Given the description of an element on the screen output the (x, y) to click on. 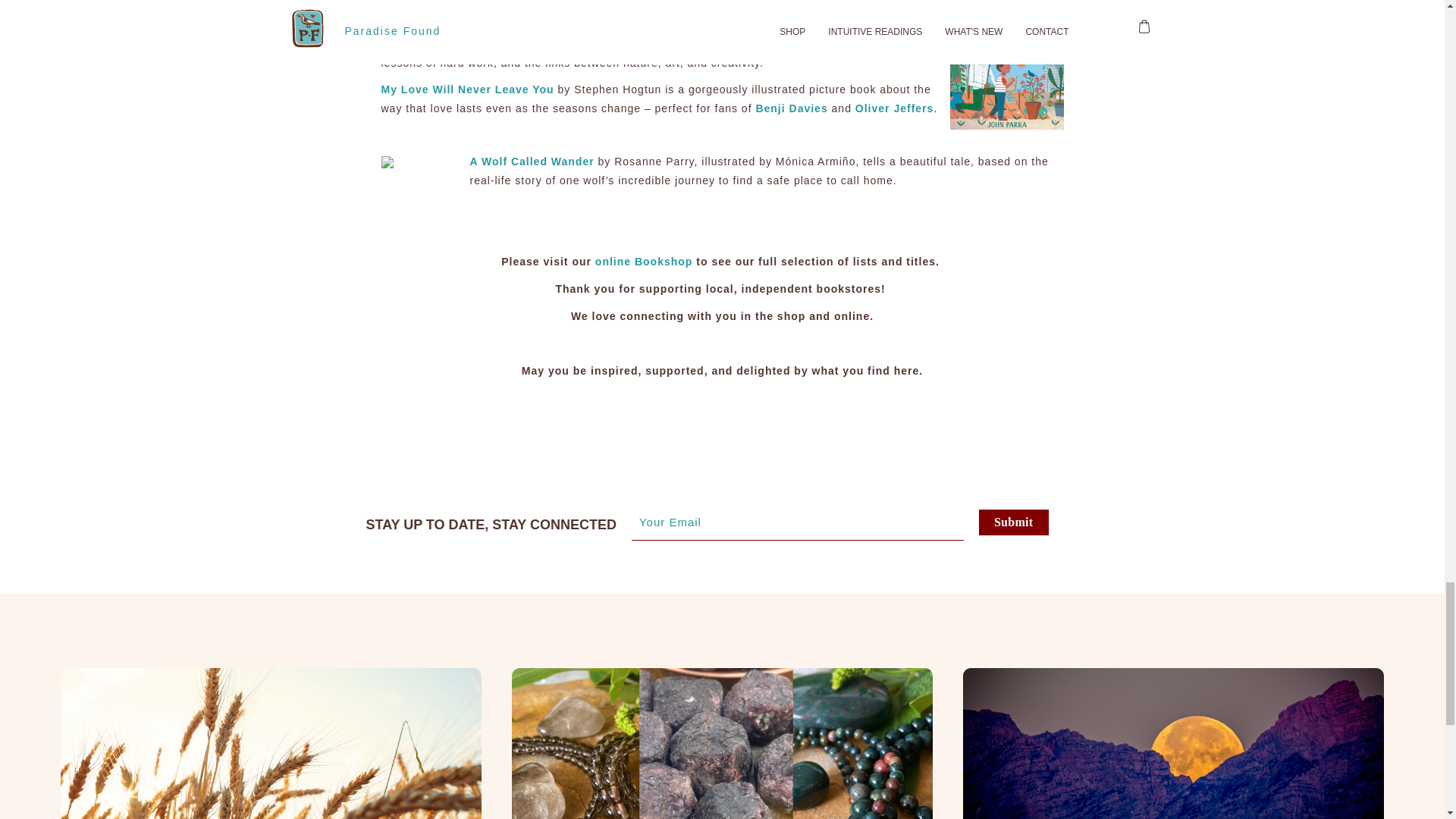
Submit (1013, 522)
